Given the description of an element on the screen output the (x, y) to click on. 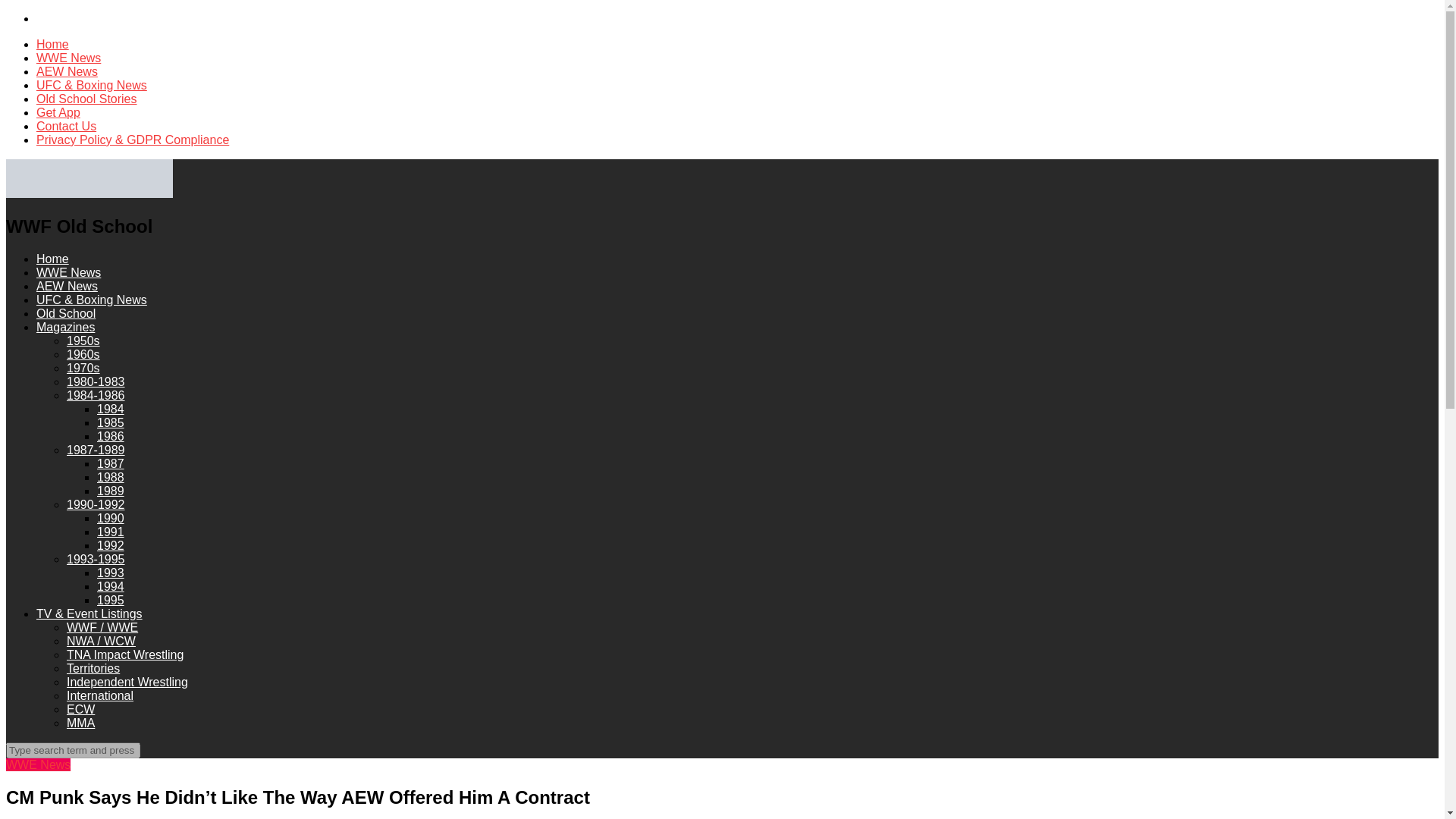
WWE News (68, 272)
AEW News (66, 71)
1950s (83, 340)
Magazines (65, 327)
1993-1995 (95, 558)
Type search term and press enter (72, 750)
1995 (110, 599)
Home (52, 43)
1987-1989 (95, 449)
AEW News (66, 286)
1992 (110, 545)
TNA Impact Wrestling (124, 654)
1984 (110, 408)
Contact Us (66, 125)
1990 (110, 517)
